Given the description of an element on the screen output the (x, y) to click on. 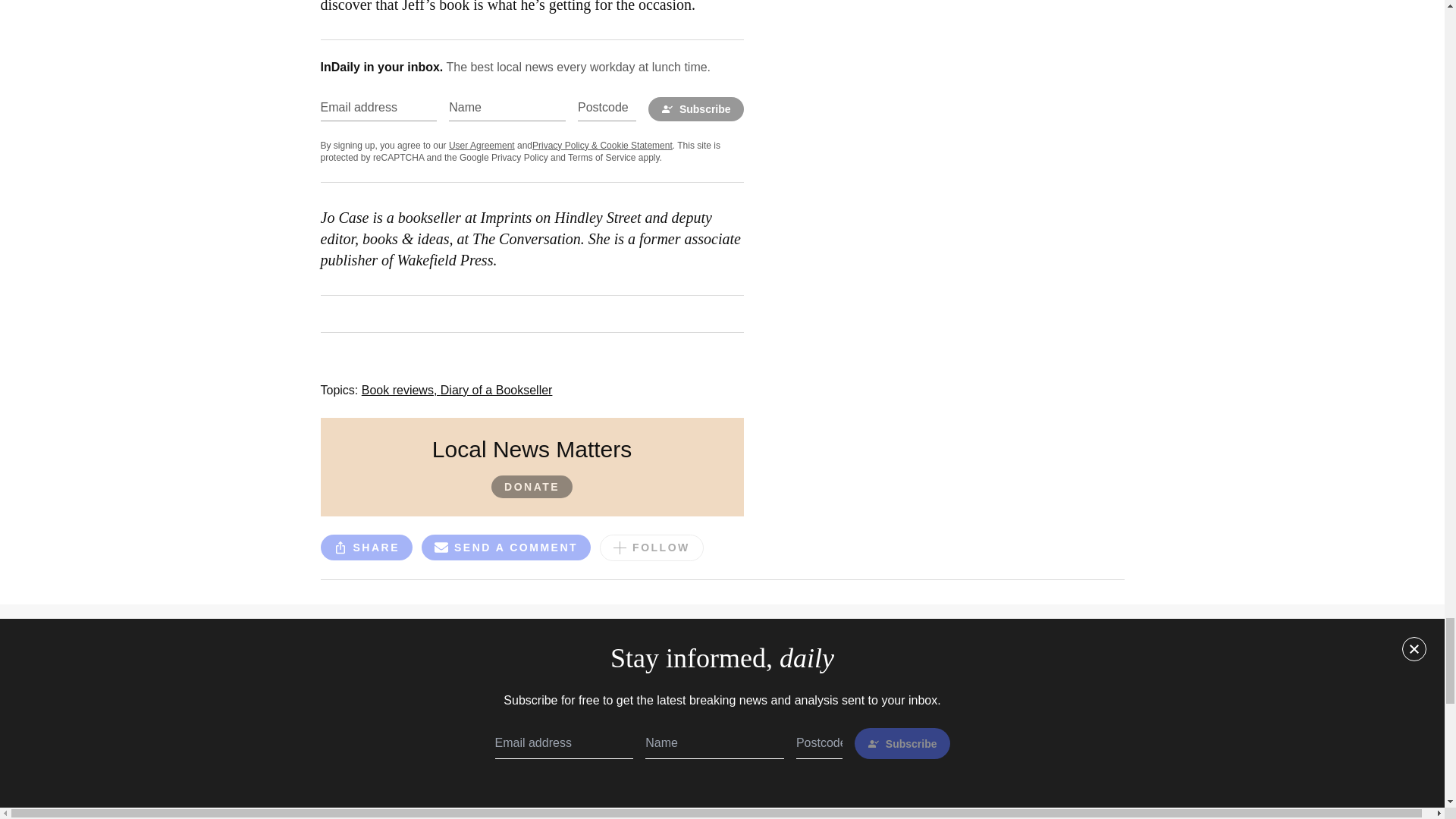
DONATE (532, 486)
SHARE (366, 547)
User Agreement (481, 145)
Subscribe (695, 109)
Book reviews, (401, 390)
Diary of a Bookseller (497, 390)
SEND A COMMENT (506, 549)
